Given the description of an element on the screen output the (x, y) to click on. 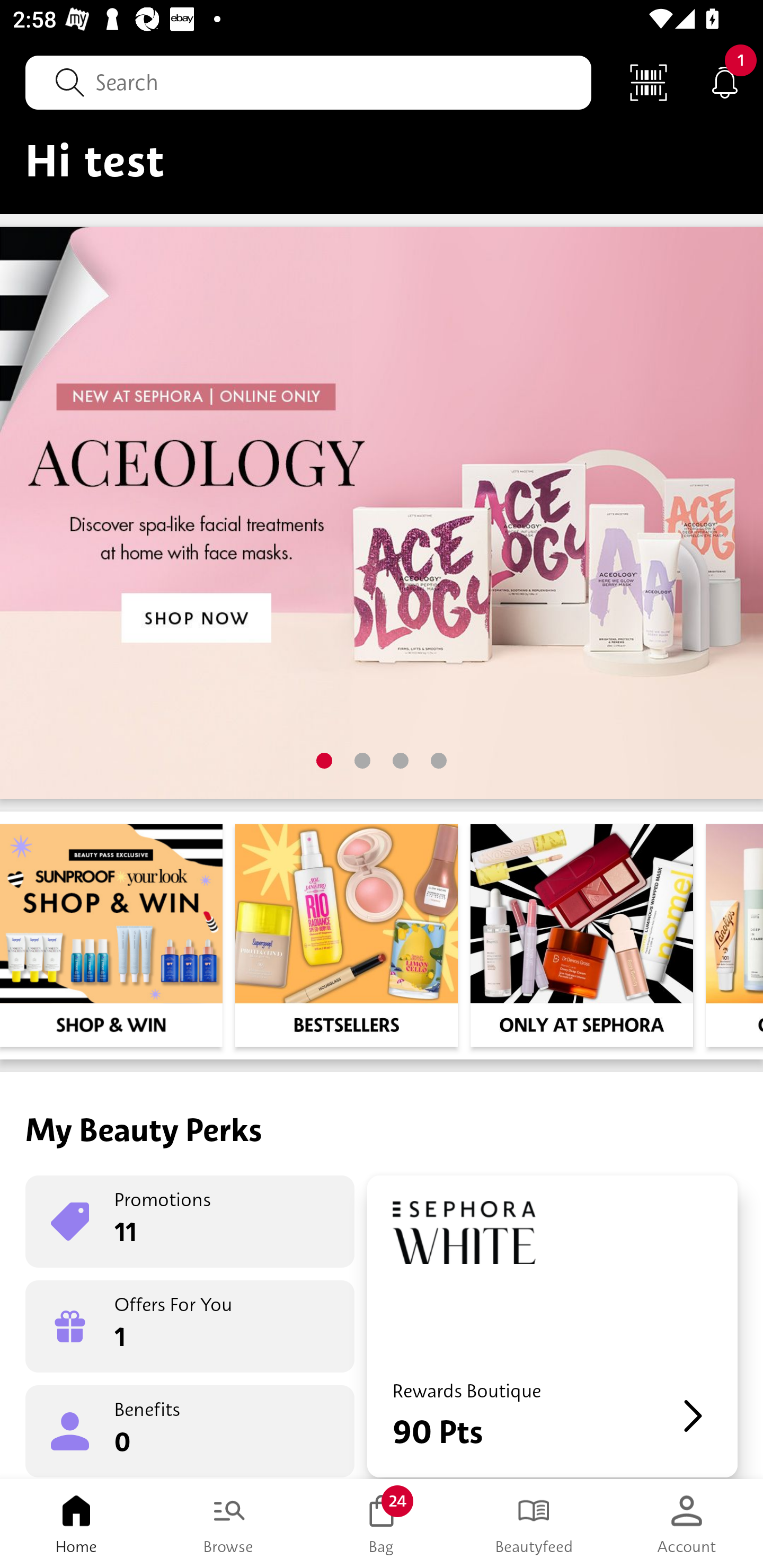
Scan Code (648, 81)
Notifications (724, 81)
Search (308, 81)
Promotions 11 (189, 1221)
Rewards Boutique 90 Pts (552, 1326)
Offers For You 1 (189, 1326)
Benefits 0 (189, 1430)
Browse (228, 1523)
Bag 24 Bag (381, 1523)
Beautyfeed (533, 1523)
Account (686, 1523)
